Given the description of an element on the screen output the (x, y) to click on. 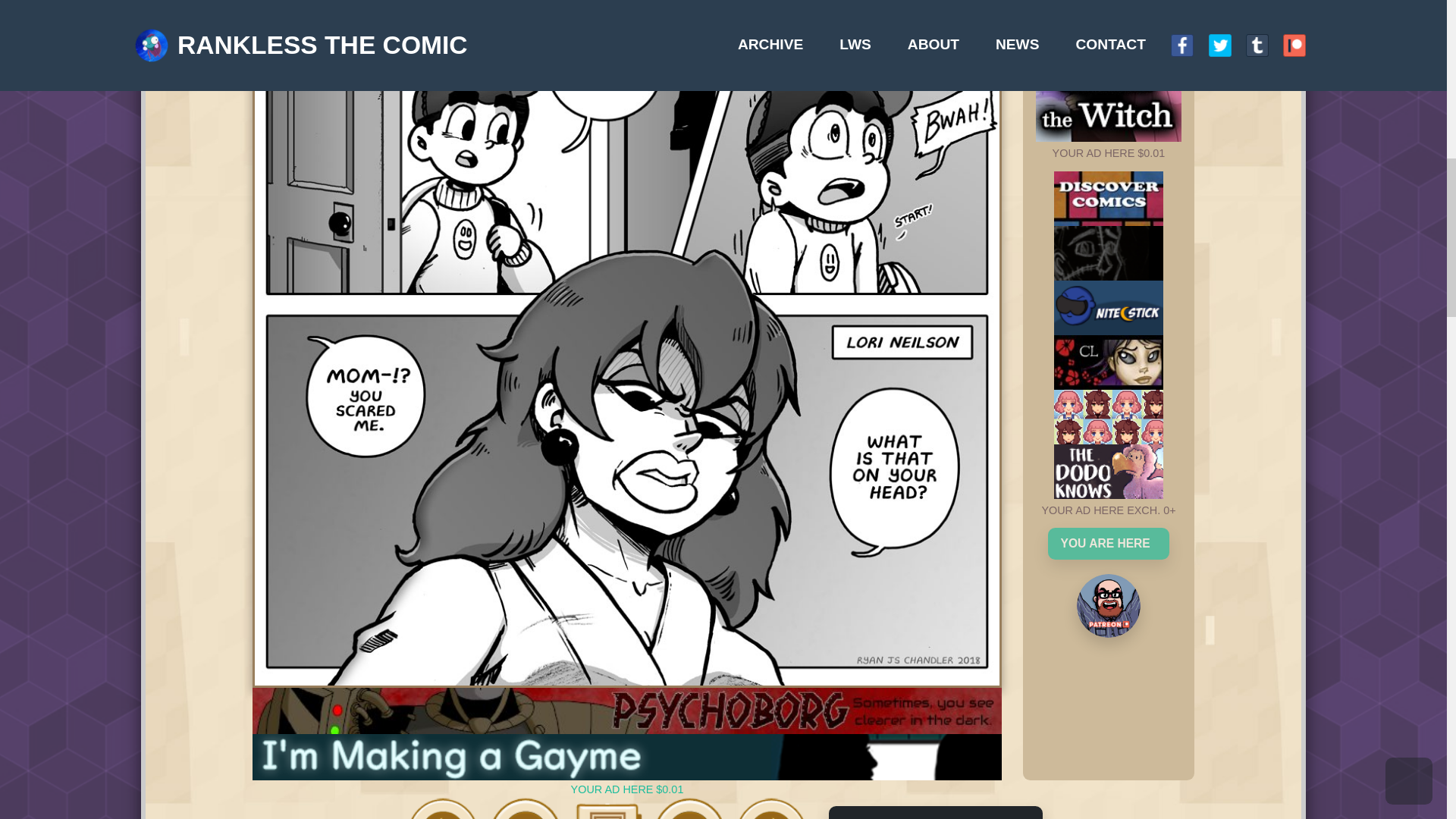
I'm Making a Gayme (522, 494)
I'm Making a Gayme (602, 735)
Psychoborg (522, 455)
The Dodo Knows (923, 256)
Discover Comics (923, 28)
Little Dee (923, 165)
button (923, 119)
Witchurch (923, 210)
YOU ARE HERE   (923, 316)
